Given the description of an element on the screen output the (x, y) to click on. 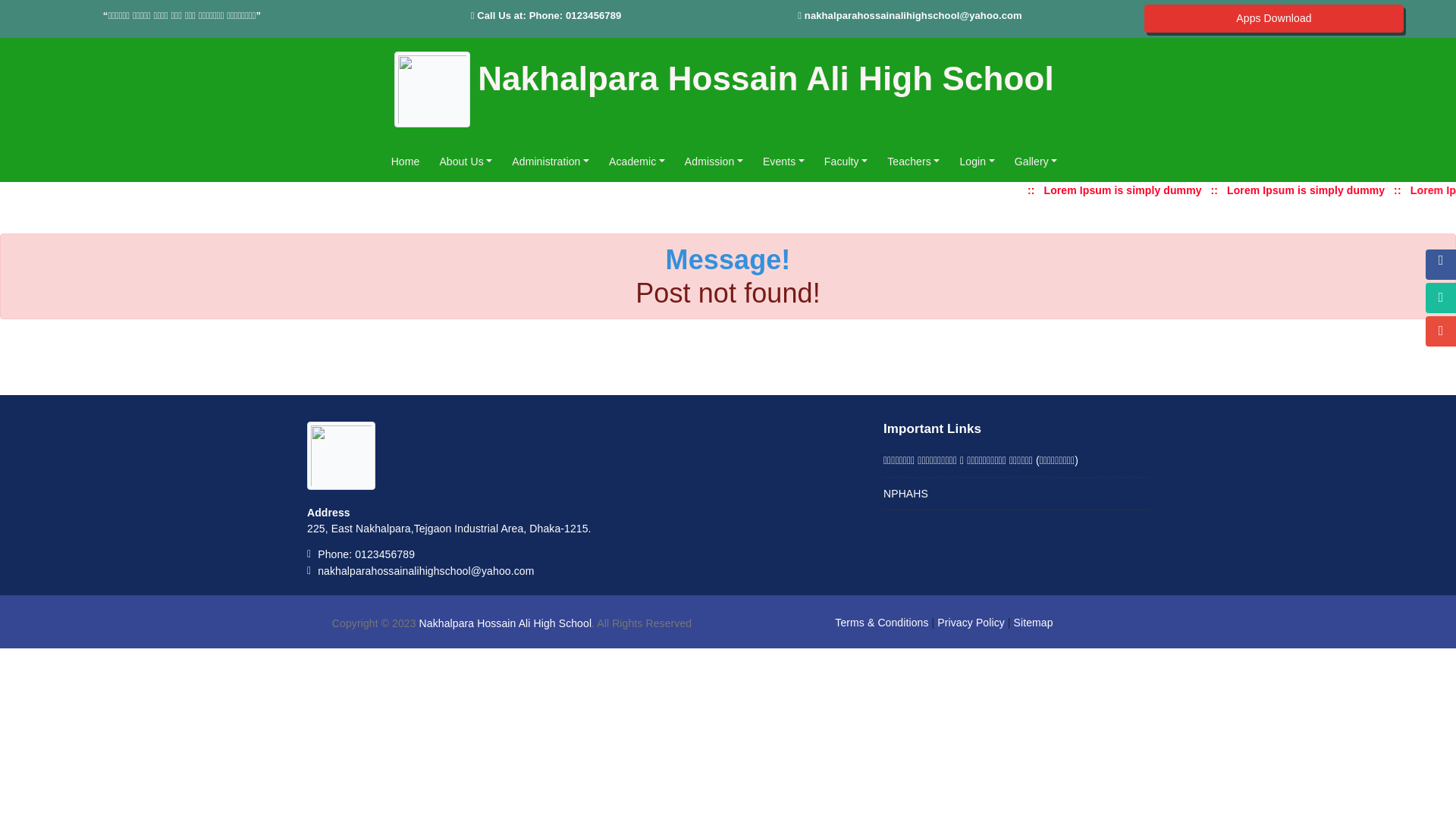
About Us Element type: text (465, 161)
Privacy Policy Element type: text (970, 622)
Admission Element type: text (713, 161)
nakhalparahossainalihighschool@yahoo.com Element type: text (913, 15)
Login Element type: text (976, 161)
Events Element type: text (783, 161)
nakhalparahossainalihighschool@yahoo.com Element type: text (425, 570)
Phone: 0123456789 Element type: text (575, 15)
Nakhalpara Hossain Ali High School Element type: text (505, 623)
Faculty Element type: text (845, 161)
Sitemap Element type: text (1033, 622)
Phone: 0123456789 Element type: text (365, 554)
Home
(current) Element type: text (405, 161)
Academic Element type: text (636, 161)
Apps Download Element type: text (1273, 18)
Gallery Element type: text (1035, 161)
Terms & Conditions Element type: text (881, 622)
Lorem Ipsum is simply dummy Element type: text (1311, 190)
NPHAHS Element type: text (905, 493)
Teachers Element type: text (913, 161)
Administration Element type: text (550, 161)
